Given the description of an element on the screen output the (x, y) to click on. 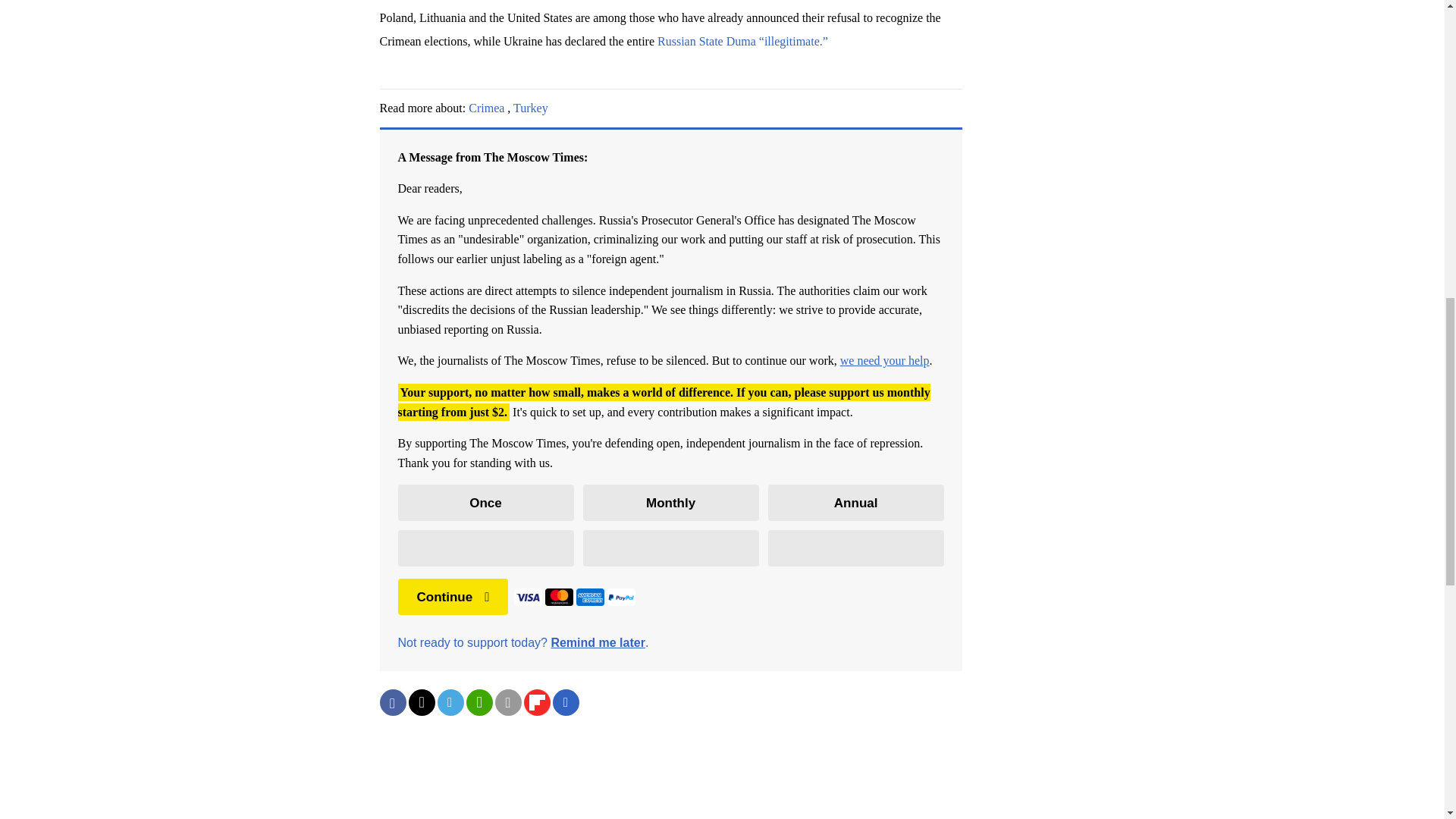
Share on Facebook (392, 702)
Share on Telegram (449, 702)
we need your help (885, 359)
Crimea (485, 107)
Share on Twitter (420, 702)
Turkey (530, 107)
Share on Flipboard (536, 702)
